Given the description of an element on the screen output the (x, y) to click on. 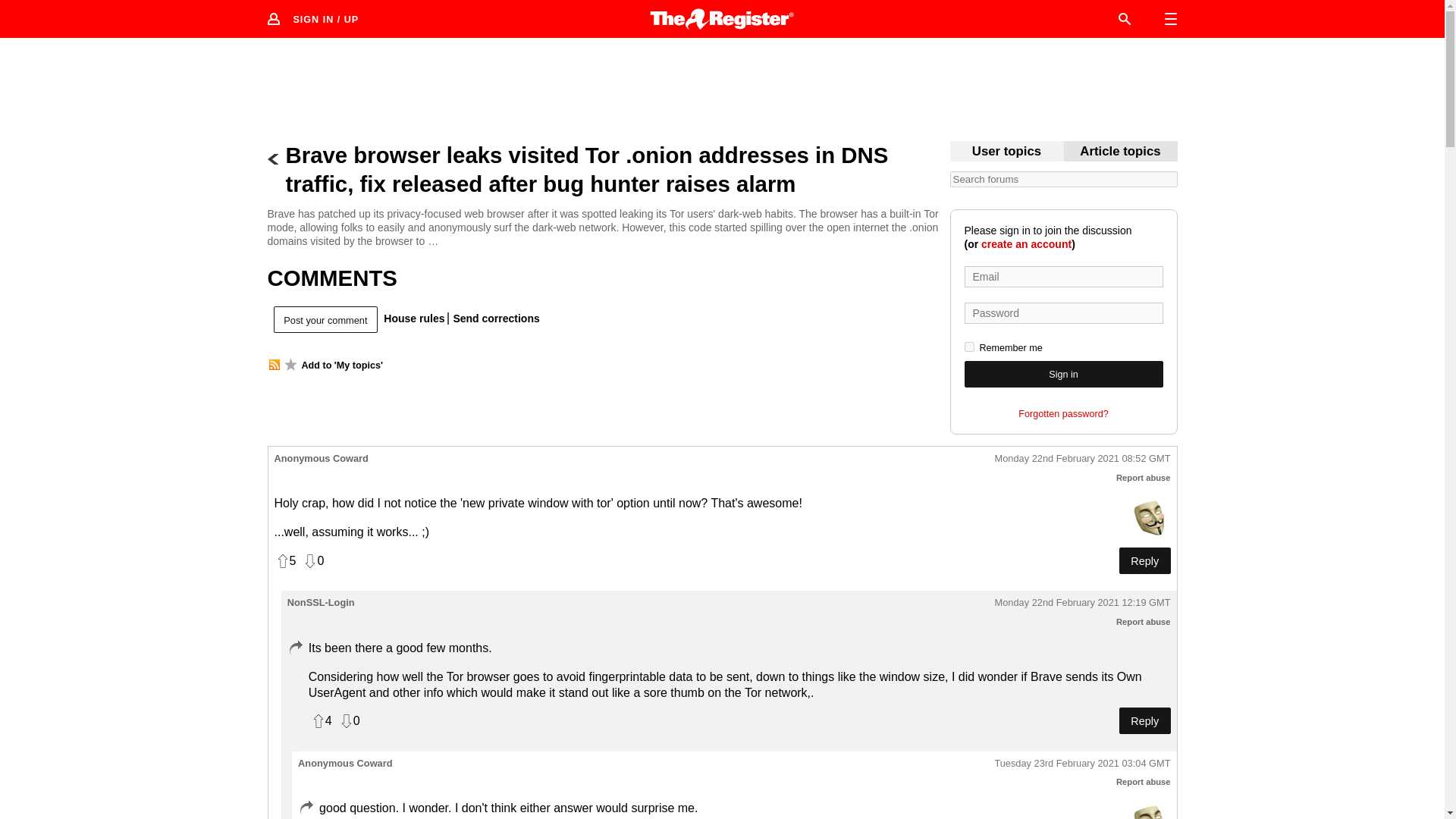
Inappropriate post? Report it to our moderators (1143, 477)
Report abuse (1143, 477)
Inappropriate post? Report it to our moderators (1143, 621)
yes (968, 347)
In reply to (294, 648)
Forgotten password? (1063, 413)
Posted by a snivelling, miserable coward (1149, 517)
Permalink to this post (1082, 459)
Like this post? Vote for it! (286, 560)
Report abuse (1143, 781)
Feed of new posts in this topic (273, 364)
Dislike this post? Vote it down! (312, 560)
Sign in (1063, 374)
Permalink to this post (1082, 603)
For corrections, please use link below article copy, kthxbye (1120, 151)
